Given the description of an element on the screen output the (x, y) to click on. 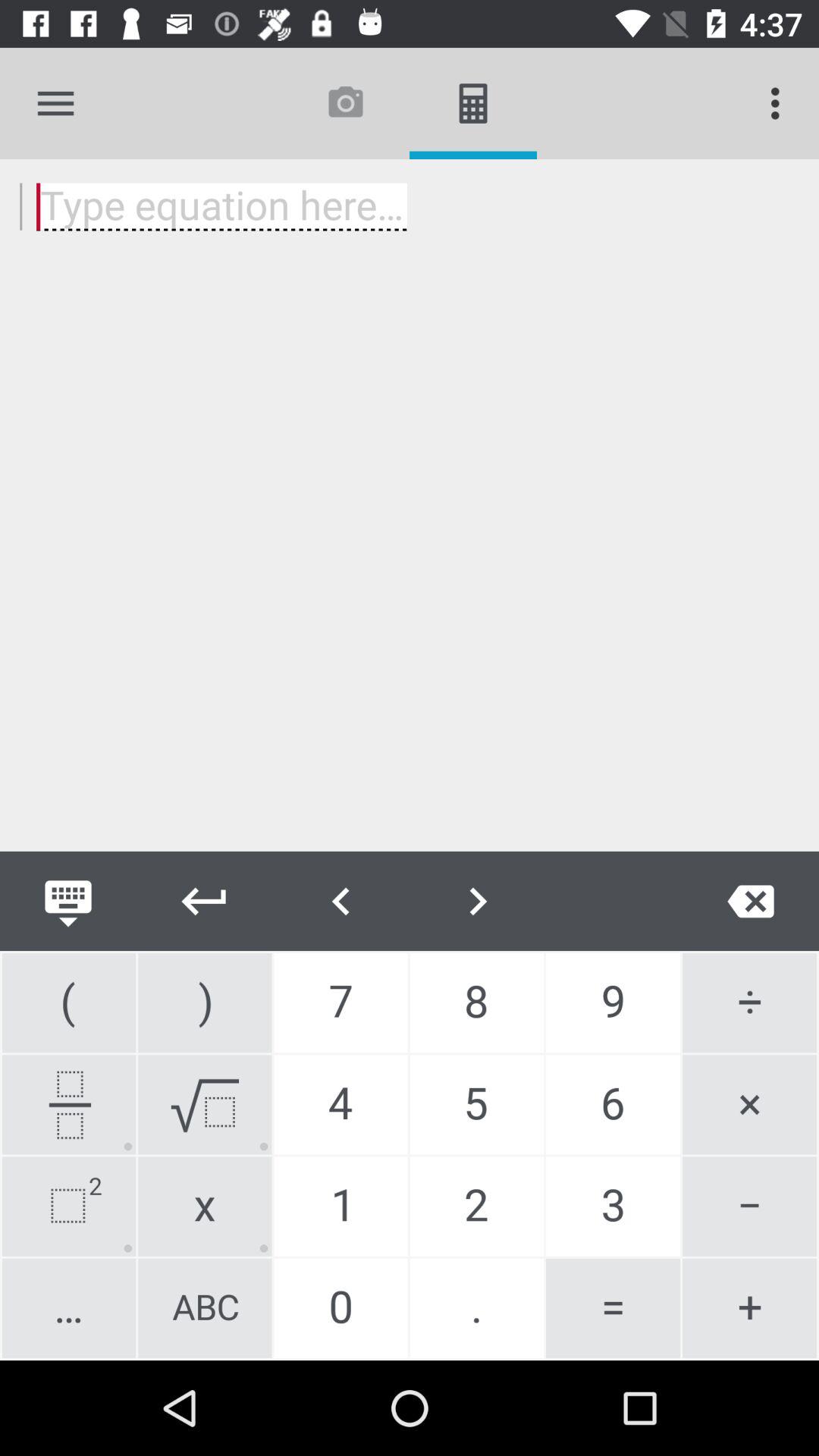
open menu (55, 103)
